Given the description of an element on the screen output the (x, y) to click on. 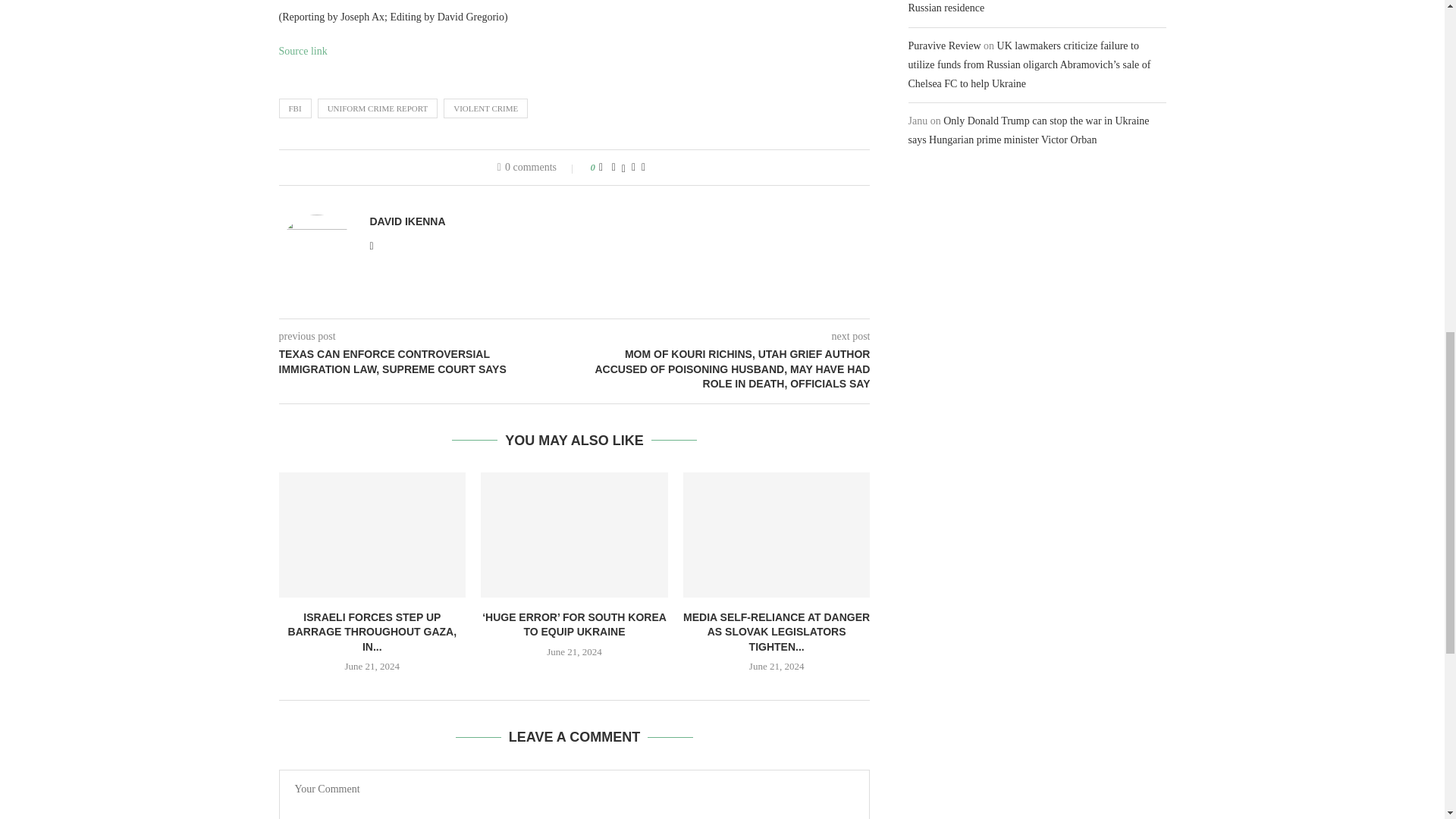
FBI (295, 107)
Source link (303, 50)
UNIFORM CRIME REPORT (377, 107)
Author David Ikenna (407, 221)
ISRAELI FORCES STEP UP BARRAGE THROUGHOUT GAZA, IN... (372, 631)
DAVID IKENNA (407, 221)
VIOLENT CRIME (485, 107)
